Given the description of an element on the screen output the (x, y) to click on. 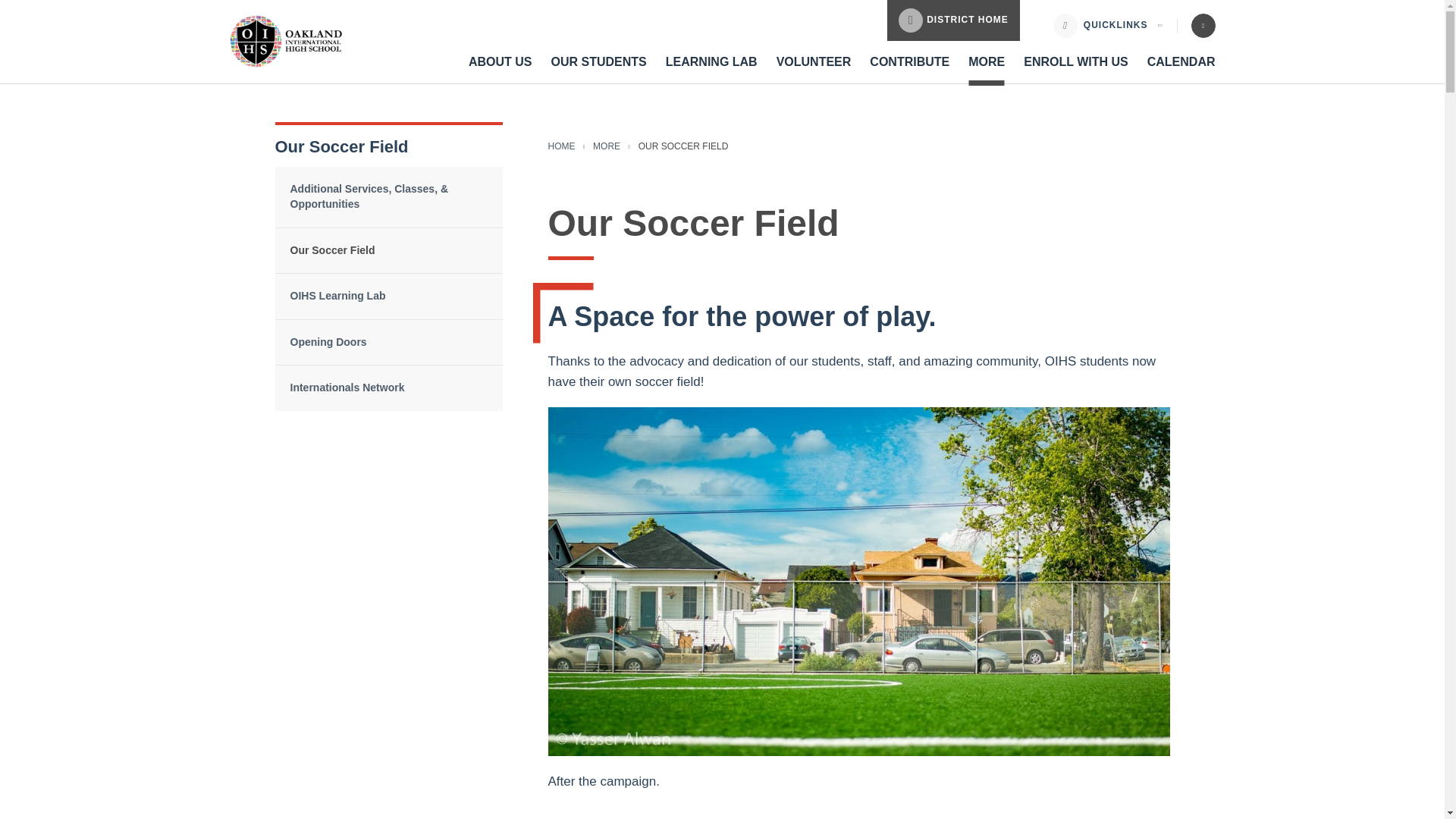
DISTRICT HOME (953, 20)
QUICKLINKS (1114, 24)
